Given the description of an element on the screen output the (x, y) to click on. 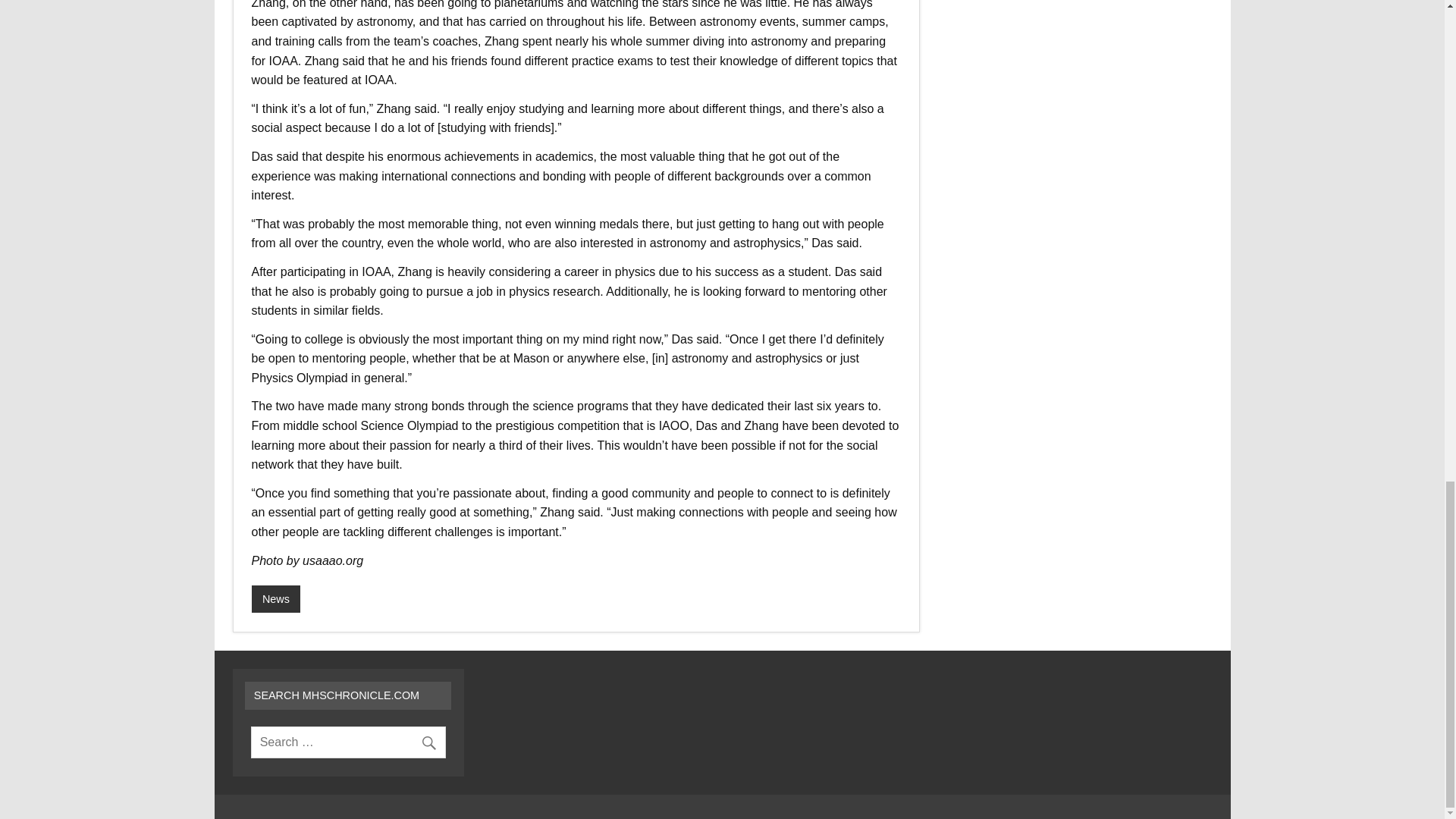
News (276, 598)
